Given the description of an element on the screen output the (x, y) to click on. 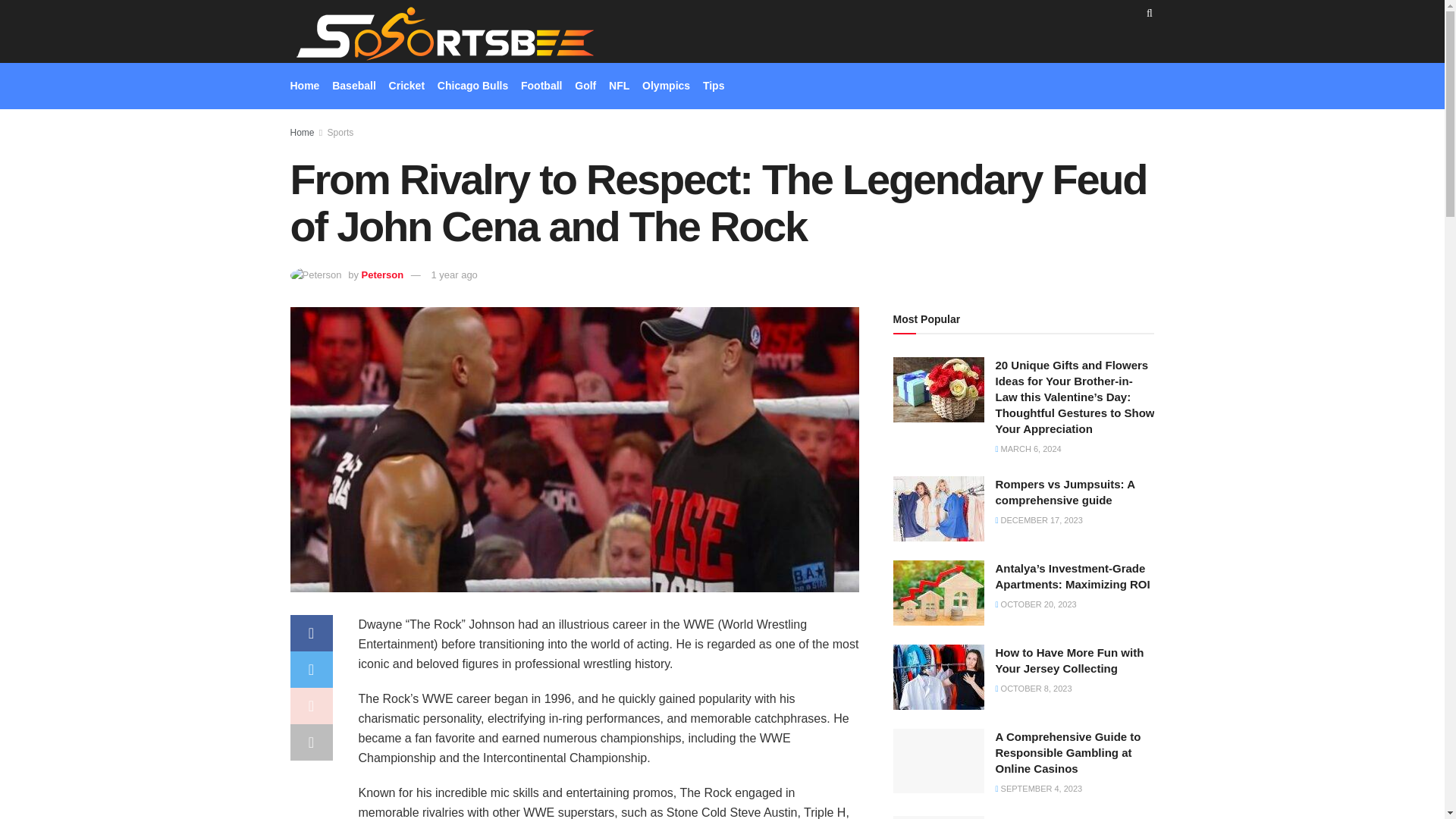
Baseball (353, 85)
Olympics (666, 85)
1 year ago (453, 274)
Sports (340, 132)
Peterson (382, 274)
Chicago Bulls (473, 85)
Home (301, 132)
